Given the description of an element on the screen output the (x, y) to click on. 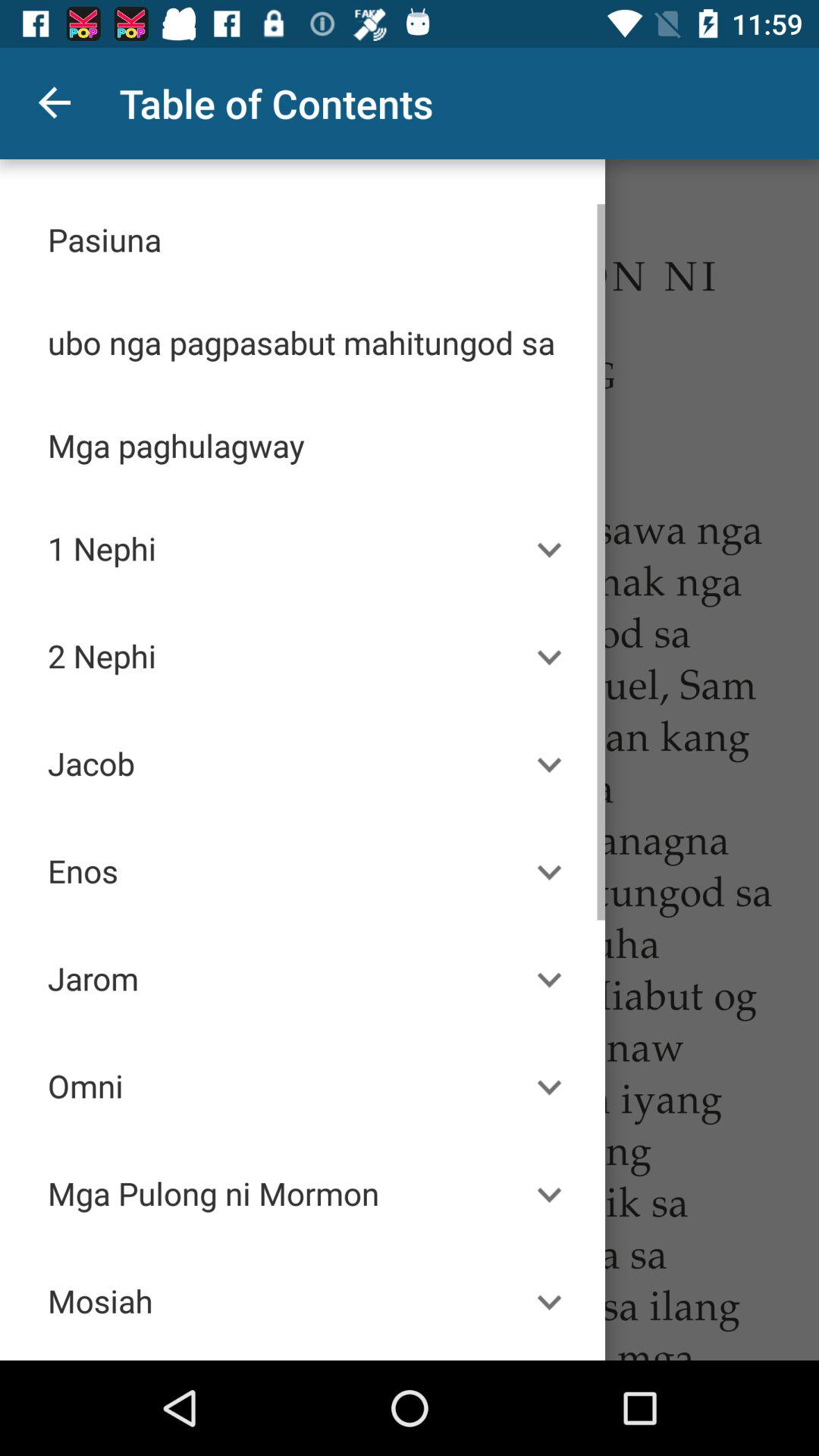
turn on icon next to the table of contents app (55, 103)
